Given the description of an element on the screen output the (x, y) to click on. 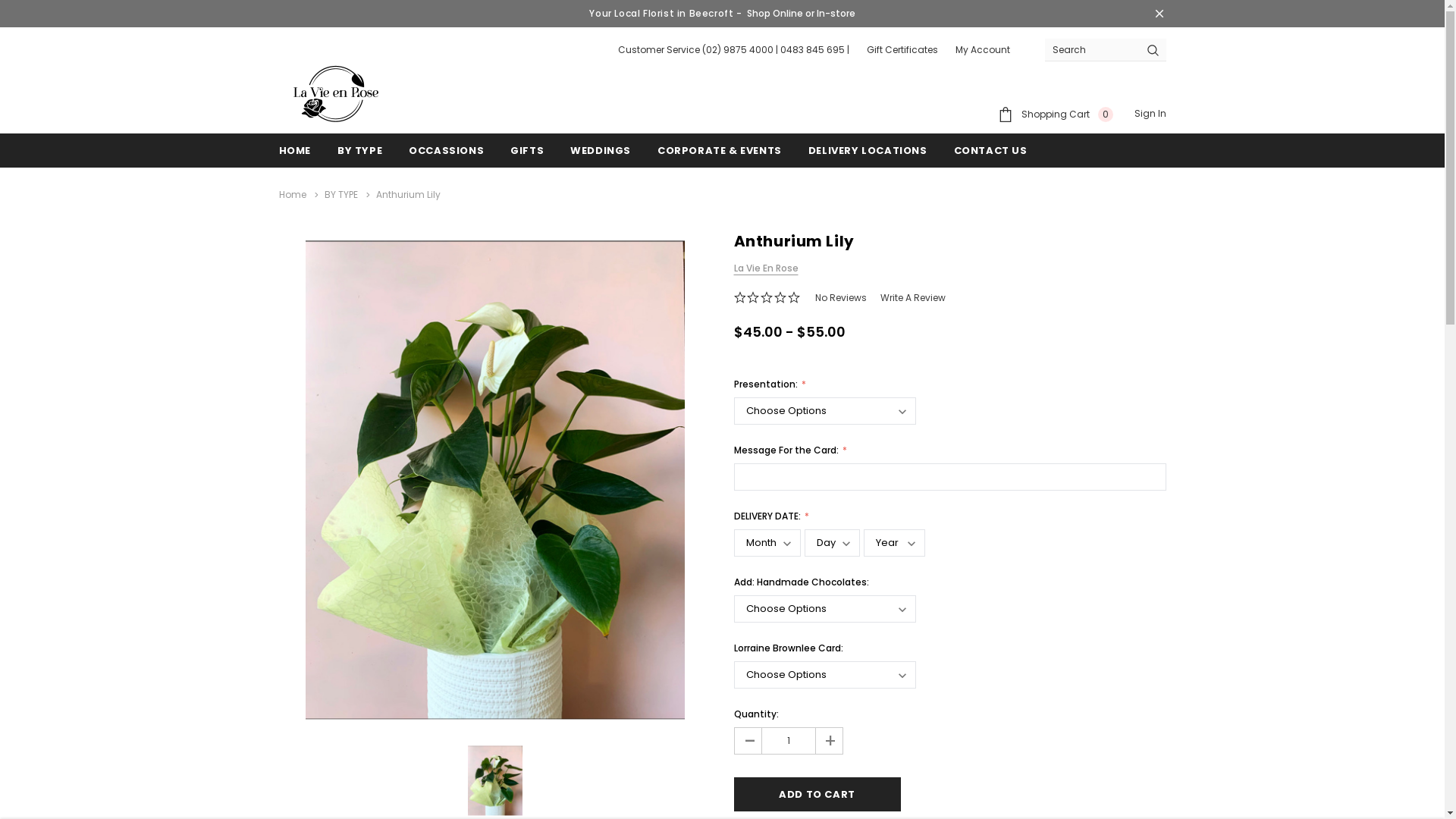
HOME Element type: text (294, 150)
- Element type: text (747, 740)
Shopping Cart 0 Element type: text (1055, 114)
Sign In Element type: text (1150, 113)
Anthurium Lily Element type: text (408, 194)
DELIVERY LOCATIONS Element type: text (867, 150)
BY TYPE Element type: text (359, 150)
CORPORATE & EVENTS Element type: text (719, 150)
CONTACT US Element type: text (990, 150)
GIFTS Element type: text (526, 150)
BY TYPE Element type: text (340, 194)
+ Element type: text (827, 740)
Customer Service (02) 9875 4000 | 0483 845 695 | Element type: text (732, 49)
Anthurium Lily Element type: hover (494, 780)
Shop Online or In-store Element type: text (800, 13)
My Account Element type: text (982, 49)
Gift Certificates Element type: text (901, 49)
La Vie en Rose Florist Element type: hover (335, 93)
Write A Review Element type: text (912, 297)
Home Element type: text (292, 194)
La Vie En Rose Element type: text (766, 267)
WEDDINGS Element type: text (600, 150)
Add to Cart Element type: text (817, 794)
OCCASSIONS Element type: text (445, 150)
